Given the description of an element on the screen output the (x, y) to click on. 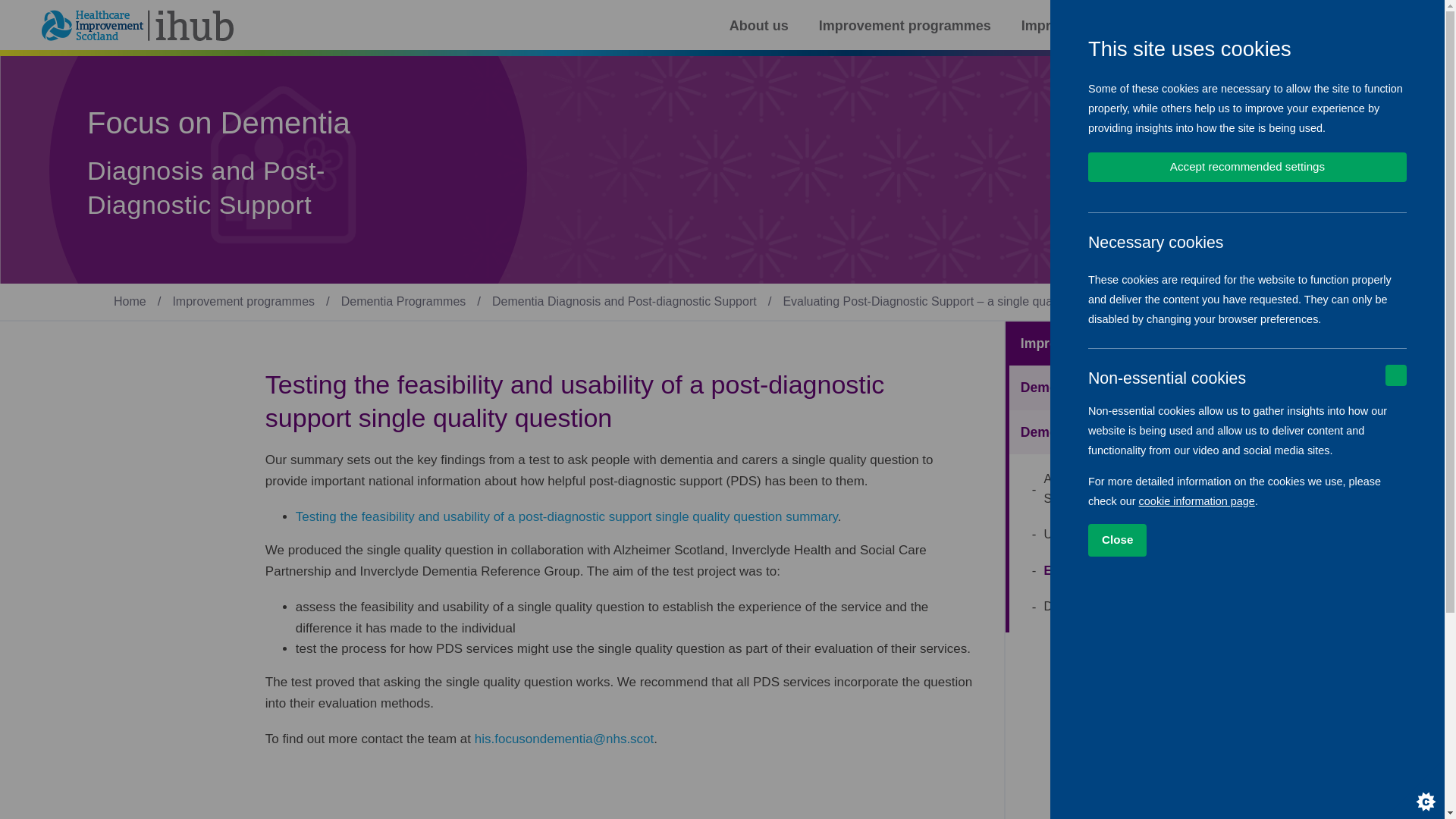
Close (1256, 540)
Events (1294, 25)
Dementia Diagnosis and Post-diagnostic Support (624, 300)
News (1224, 25)
Improvement programmes (904, 25)
Home (130, 300)
Dementia Programmes (402, 300)
About us (759, 25)
Improvement resources (1099, 25)
Improvement programmes (242, 300)
